Given the description of an element on the screen output the (x, y) to click on. 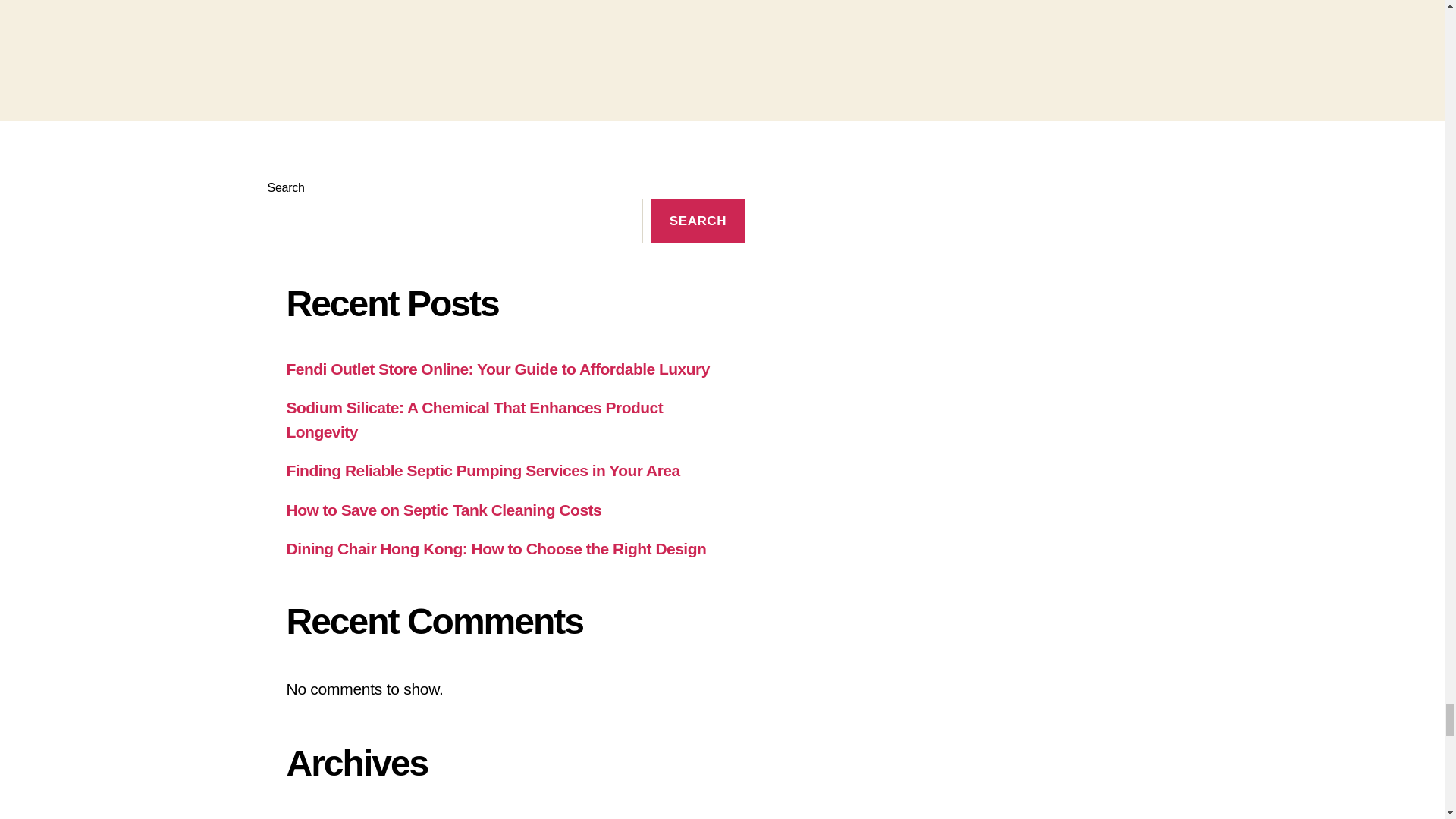
Sodium Silicate: A Chemical That Enhances Product Longevity (474, 419)
How to Save on Septic Tank Cleaning Costs (444, 509)
SEARCH (697, 221)
Finding Reliable Septic Pumping Services in Your Area (482, 470)
Dining Chair Hong Kong: How to Choose the Right Design (496, 548)
Fendi Outlet Store Online: Your Guide to Affordable Luxury (498, 368)
